Given the description of an element on the screen output the (x, y) to click on. 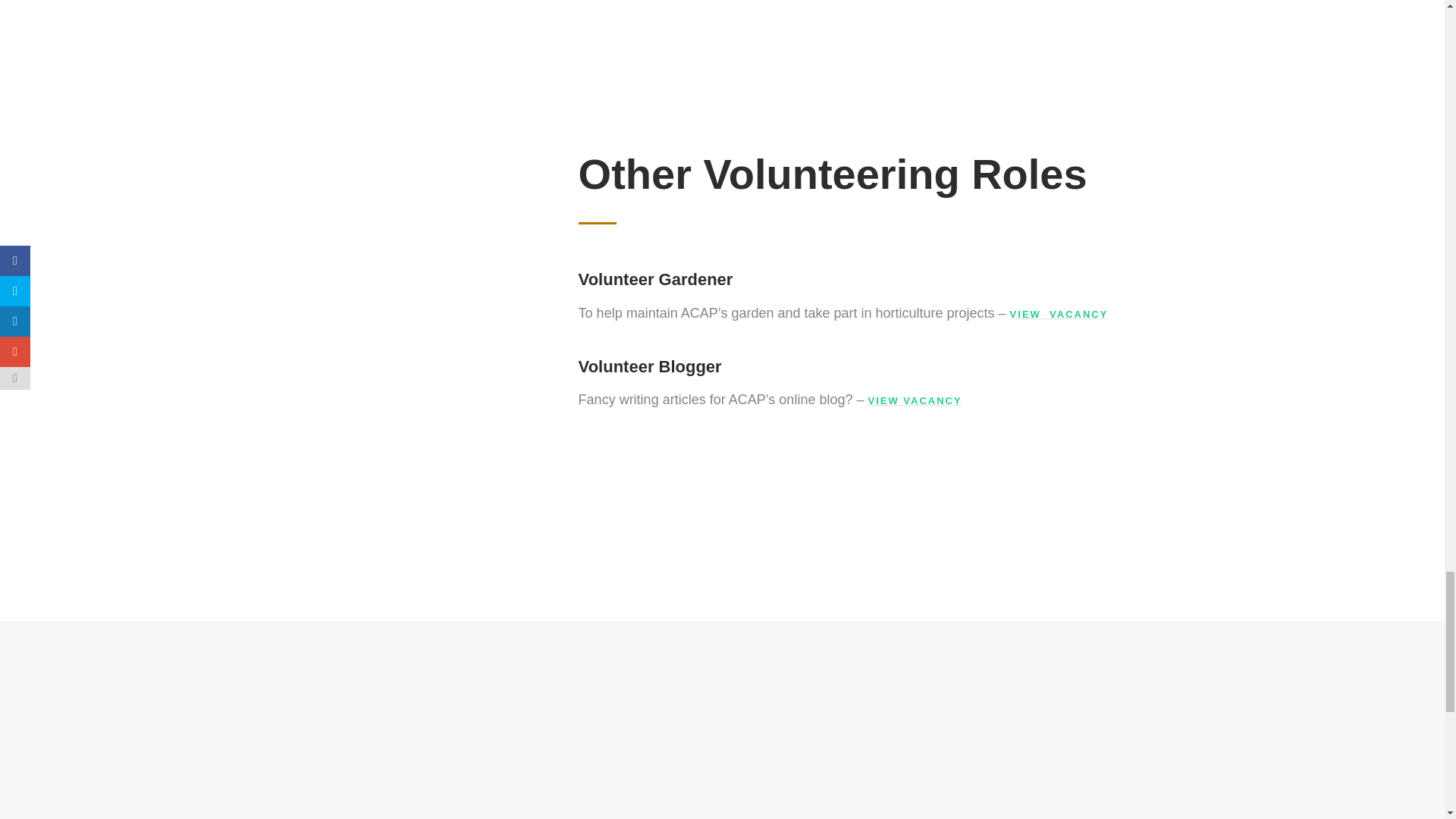
VIEW VACANCY (913, 400)
VIEW  VACANCY (1059, 314)
premade-image-15 (722, 740)
